Given the description of an element on the screen output the (x, y) to click on. 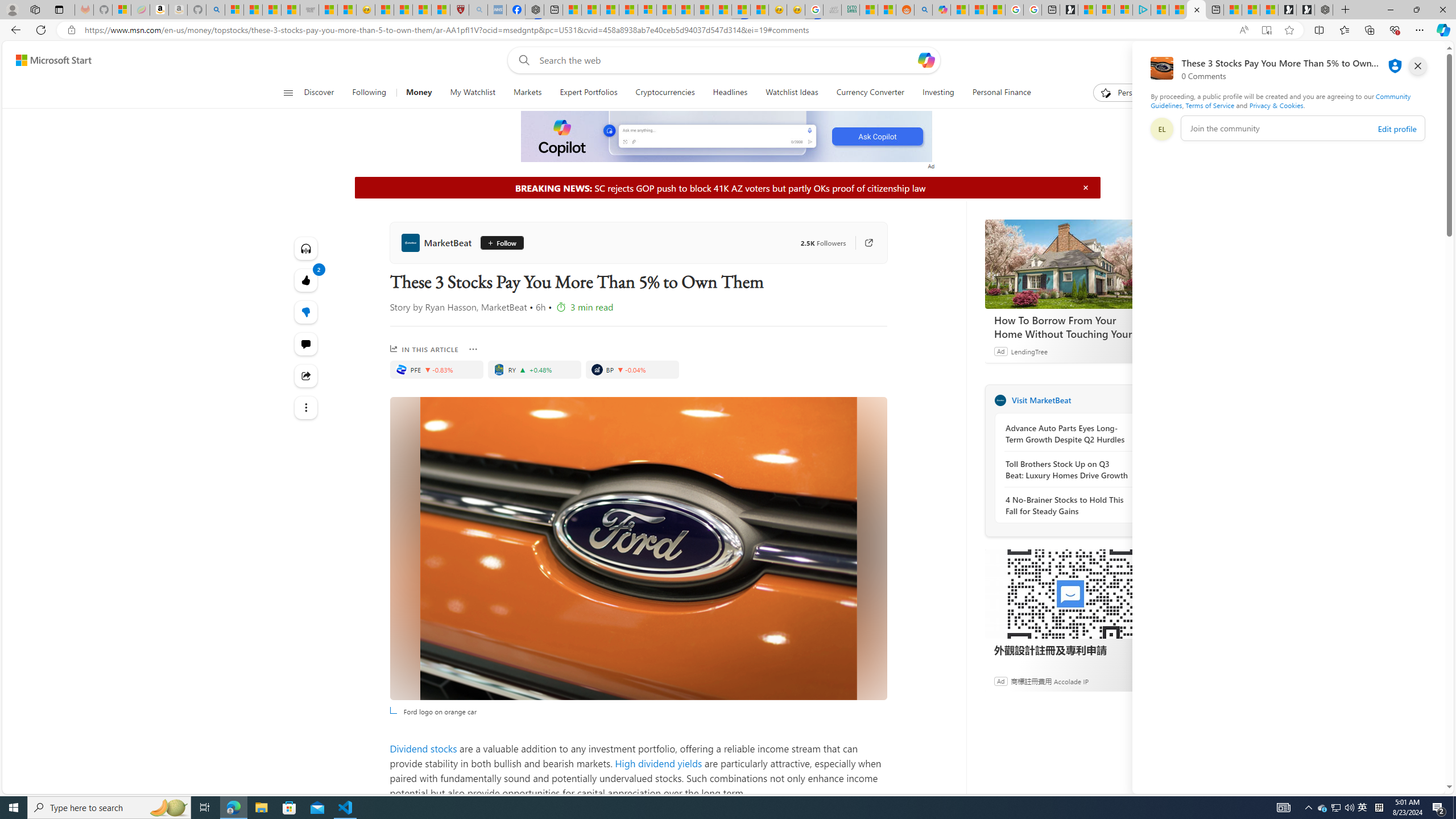
Personal Finance (996, 92)
Class: at-item (305, 407)
Price increase (522, 369)
Ford logo on orange car (638, 548)
These 3 Stocks Pay You More Than 5% to Own Them (1195, 9)
2Fewer like this (305, 312)
